Given the description of an element on the screen output the (x, y) to click on. 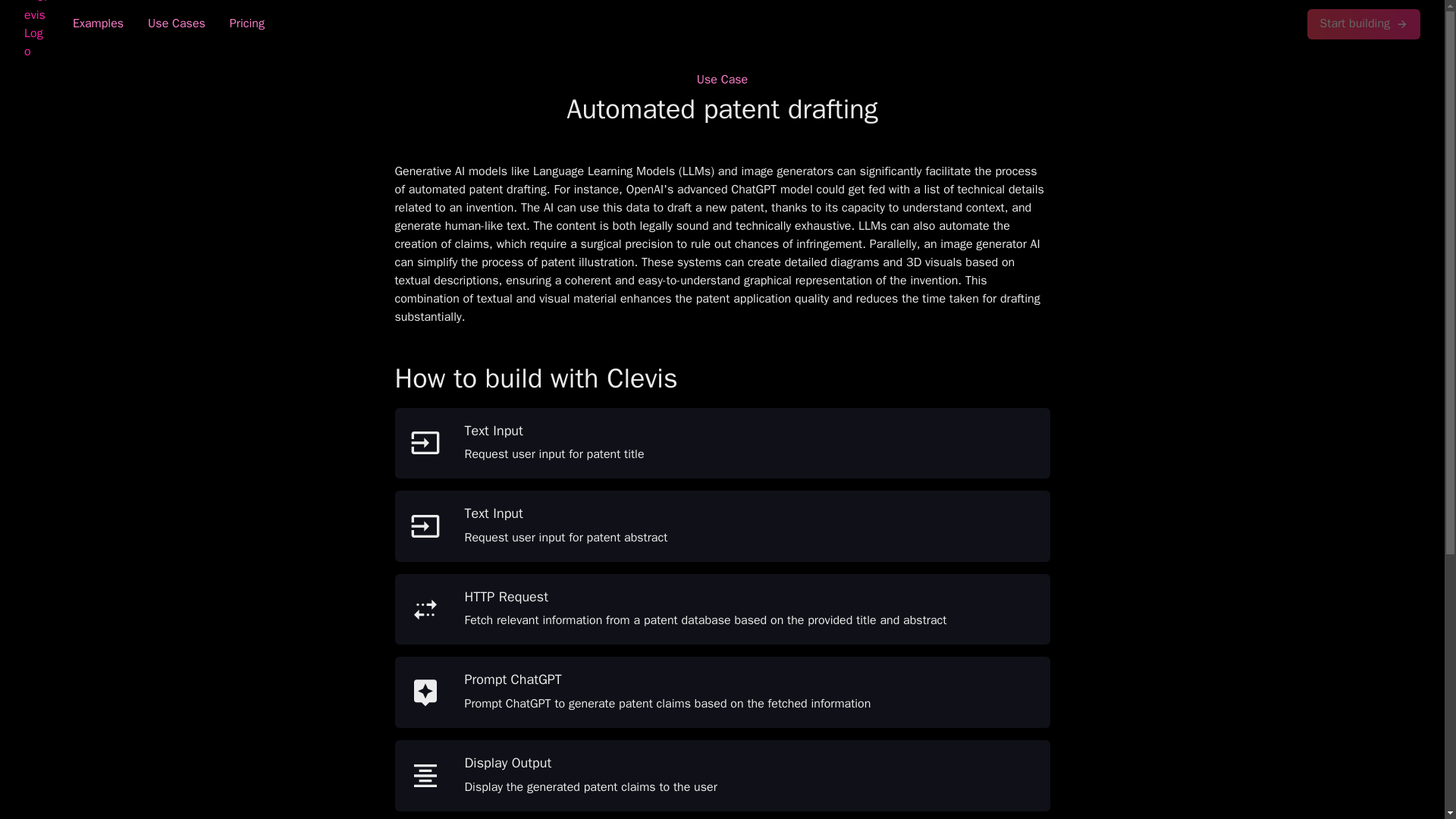
Start building (1364, 24)
Use Cases (175, 24)
Examples (98, 24)
Pricing (246, 24)
